Given the description of an element on the screen output the (x, y) to click on. 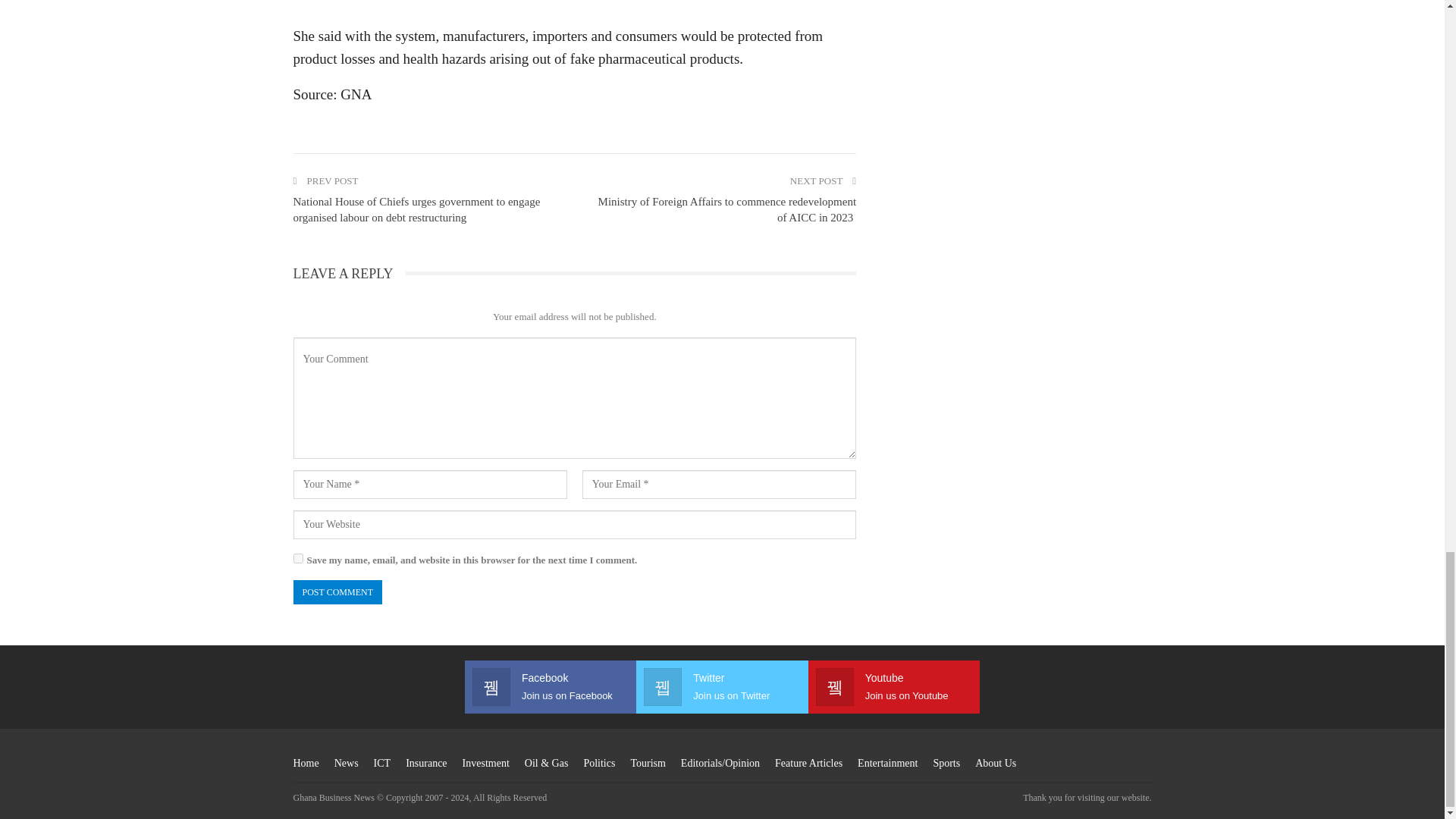
yes (297, 558)
Post Comment (336, 592)
